Given the description of an element on the screen output the (x, y) to click on. 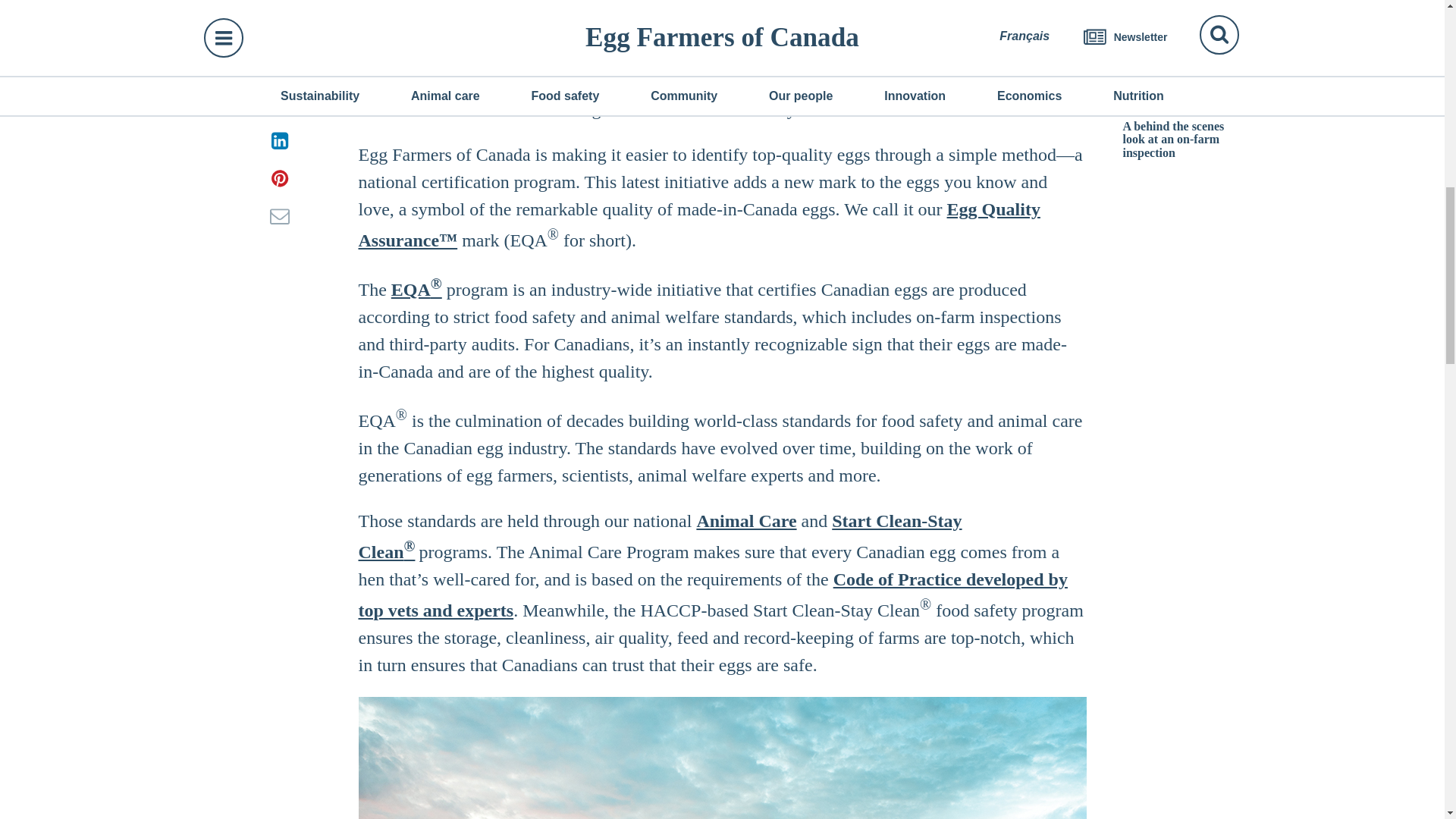
Share this post on LinkedIn (278, 139)
Share this post on Twitter (278, 102)
Share this post on Facebook (278, 64)
Share this post on Pinterest (278, 177)
Animal Care (745, 520)
